Given the description of an element on the screen output the (x, y) to click on. 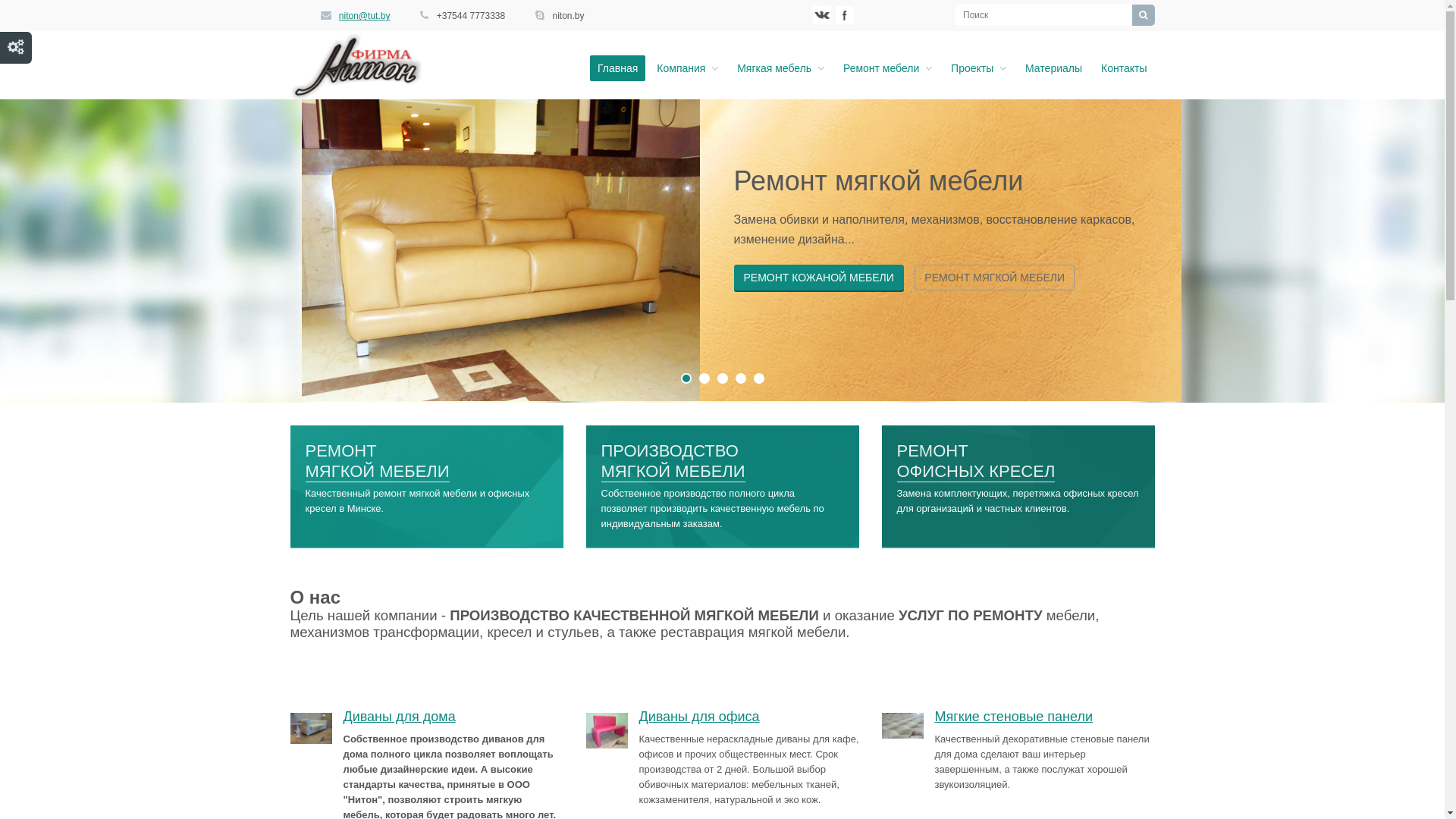
2 Element type: text (704, 378)
5 Element type: text (758, 378)
niton@tut.by Element type: text (364, 15)
4 Element type: text (740, 378)
1 Element type: text (685, 378)
Facebook Element type: text (844, 15)
3 Element type: text (722, 378)
